Given the description of an element on the screen output the (x, y) to click on. 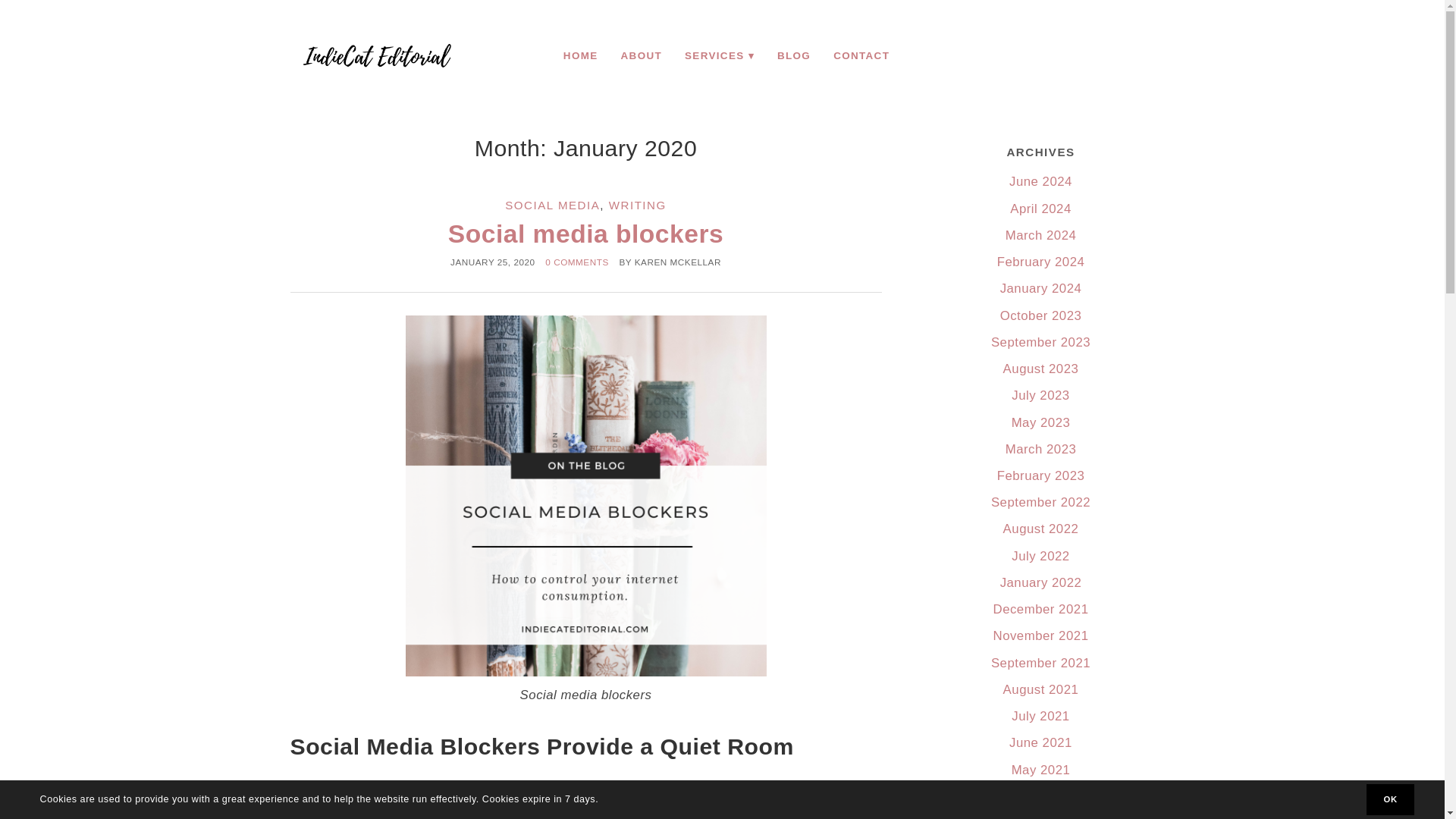
March 2023 (1041, 449)
December 2021 (1040, 608)
September 2021 (1040, 663)
HOME (580, 55)
BLOG (793, 55)
July 2023 (1039, 395)
August 2022 (1040, 528)
CONTACT (861, 55)
SERVICES (718, 55)
Social media blockers (585, 234)
November 2021 (1040, 635)
March 2024 (1041, 235)
February 2023 (1040, 475)
ABOUT (642, 55)
SOCIAL MEDIA (552, 205)
